Given the description of an element on the screen output the (x, y) to click on. 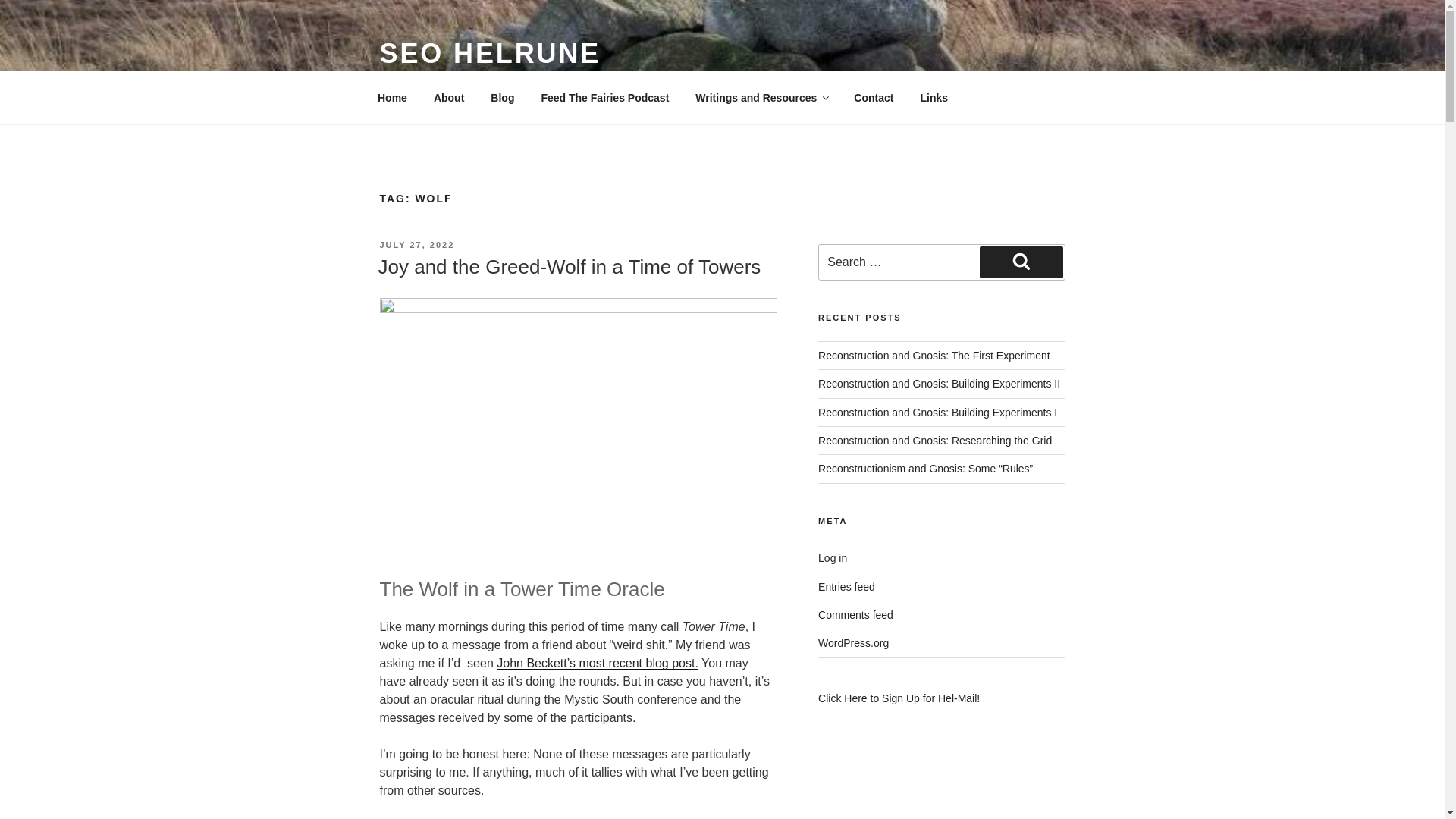
About (448, 97)
Home (392, 97)
Blog (502, 97)
Search (1020, 262)
JULY 27, 2022 (416, 244)
Joy and the Greed-Wolf in a Time of Towers (568, 266)
Reconstruction and Gnosis: Researching the Grid (934, 440)
Log in (832, 558)
Entries feed (846, 586)
Comments feed (855, 614)
